Given the description of an element on the screen output the (x, y) to click on. 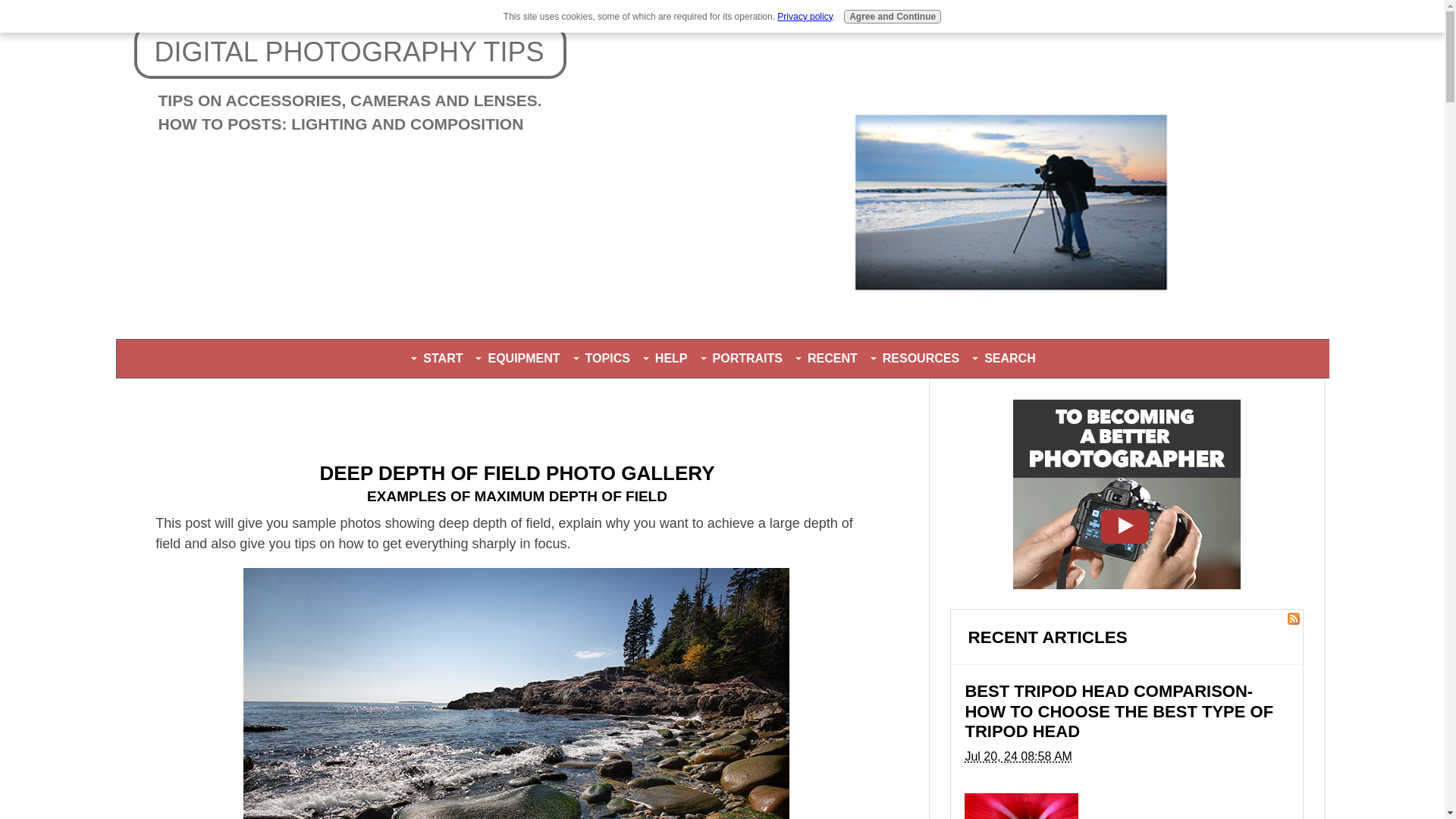
Digital Photography School Resources (1126, 584)
2024-07-20T08:58:27-0400 (1017, 756)
DIGITAL PHOTOGRAPHY TIPS (349, 51)
